Given the description of an element on the screen output the (x, y) to click on. 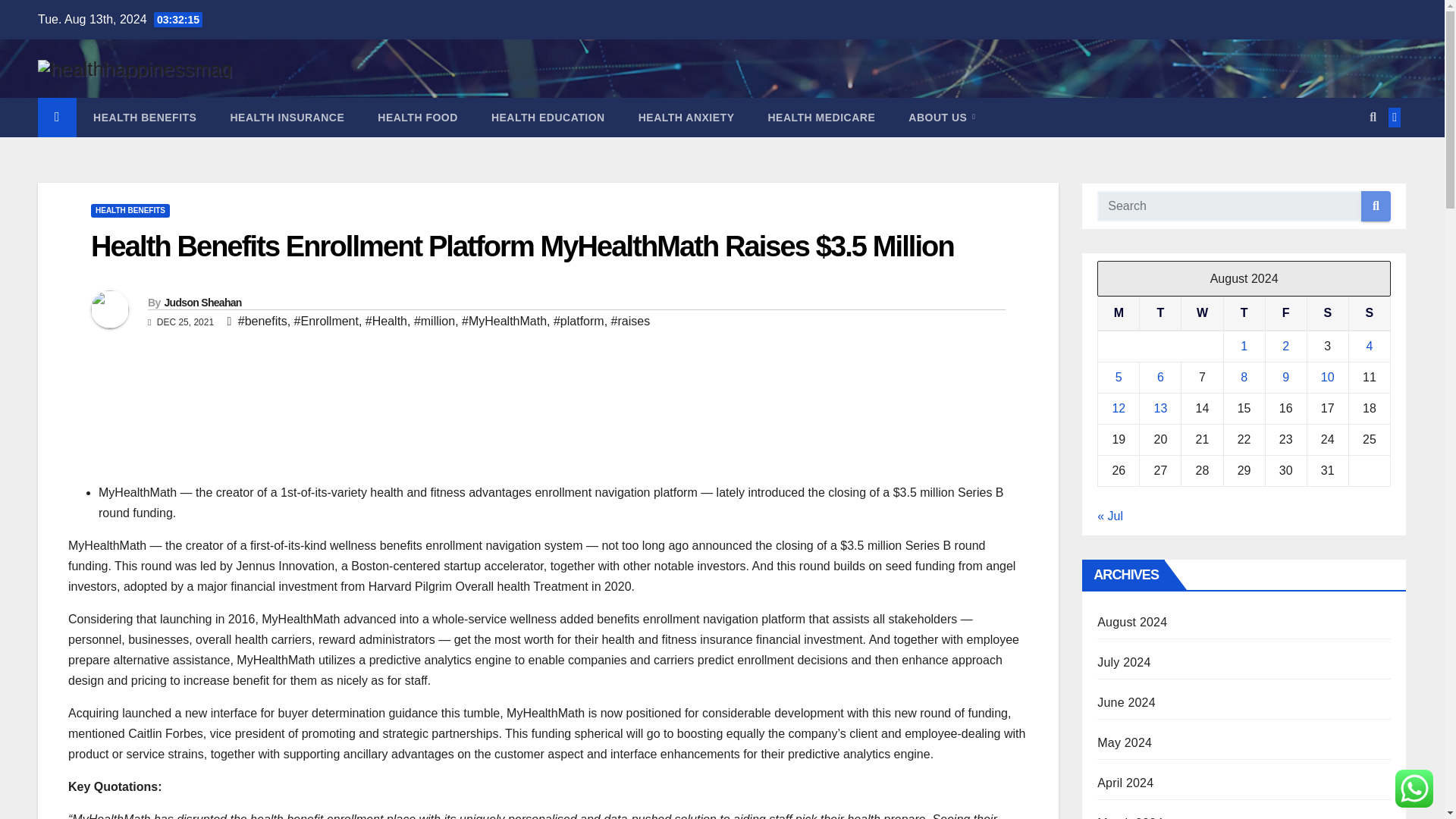
About Us (941, 117)
HEALTH ANXIETY (686, 117)
HEALTH FOOD (417, 117)
ABOUT US (941, 117)
Health Medicare (821, 117)
HEALTH BENEFITS (130, 210)
Health Food (417, 117)
HEALTH BENEFITS (144, 117)
Health Anxiety (686, 117)
Health Benefits (144, 117)
